Given the description of an element on the screen output the (x, y) to click on. 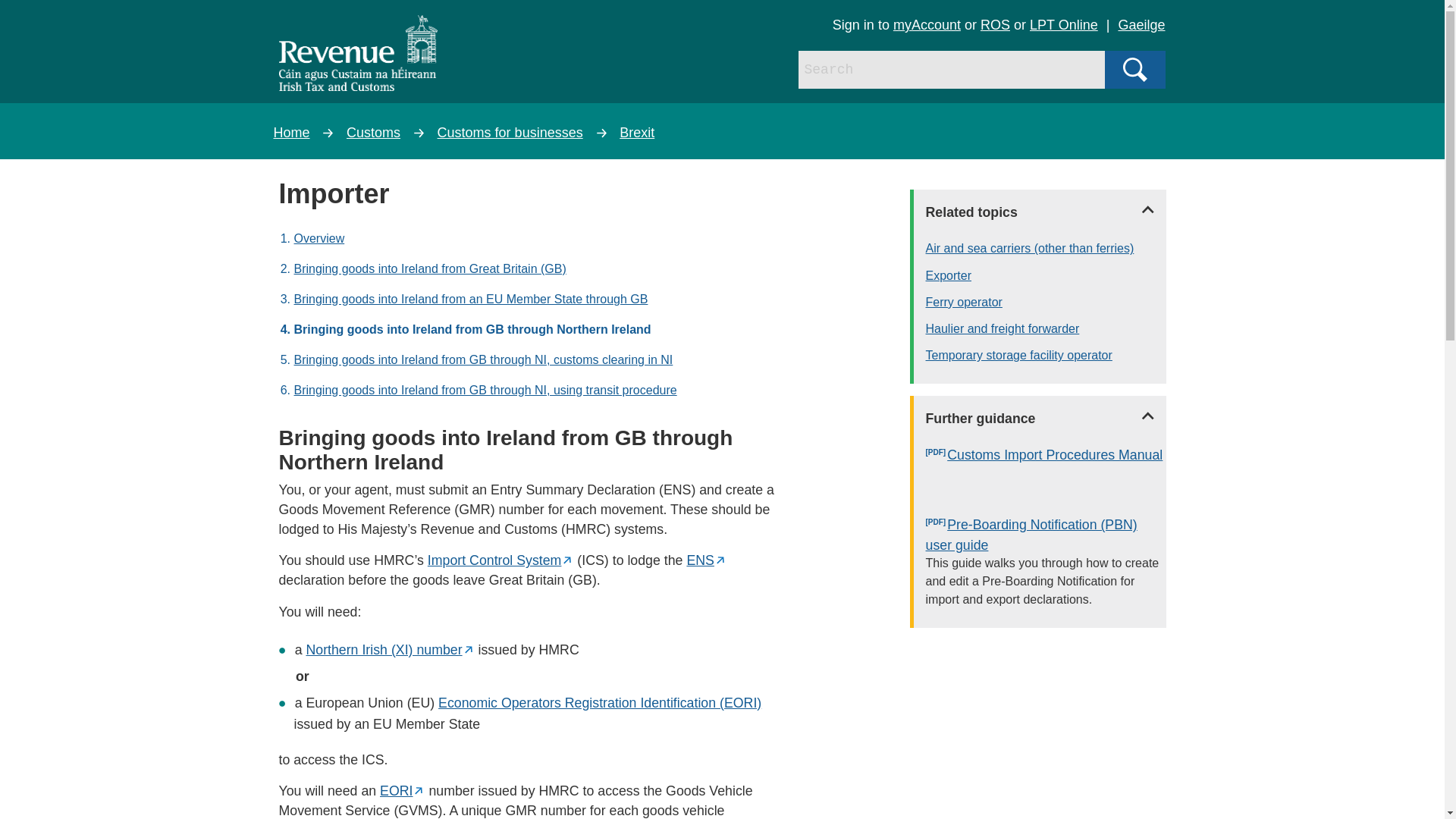
Related topics (1040, 212)
Go to Customs from here (373, 131)
myAccount (926, 24)
Home (290, 131)
Gov.uk website (402, 790)
Search (1133, 69)
Customs for businesses (510, 131)
Exporter (1046, 275)
Go to Home from here (290, 131)
